Given the description of an element on the screen output the (x, y) to click on. 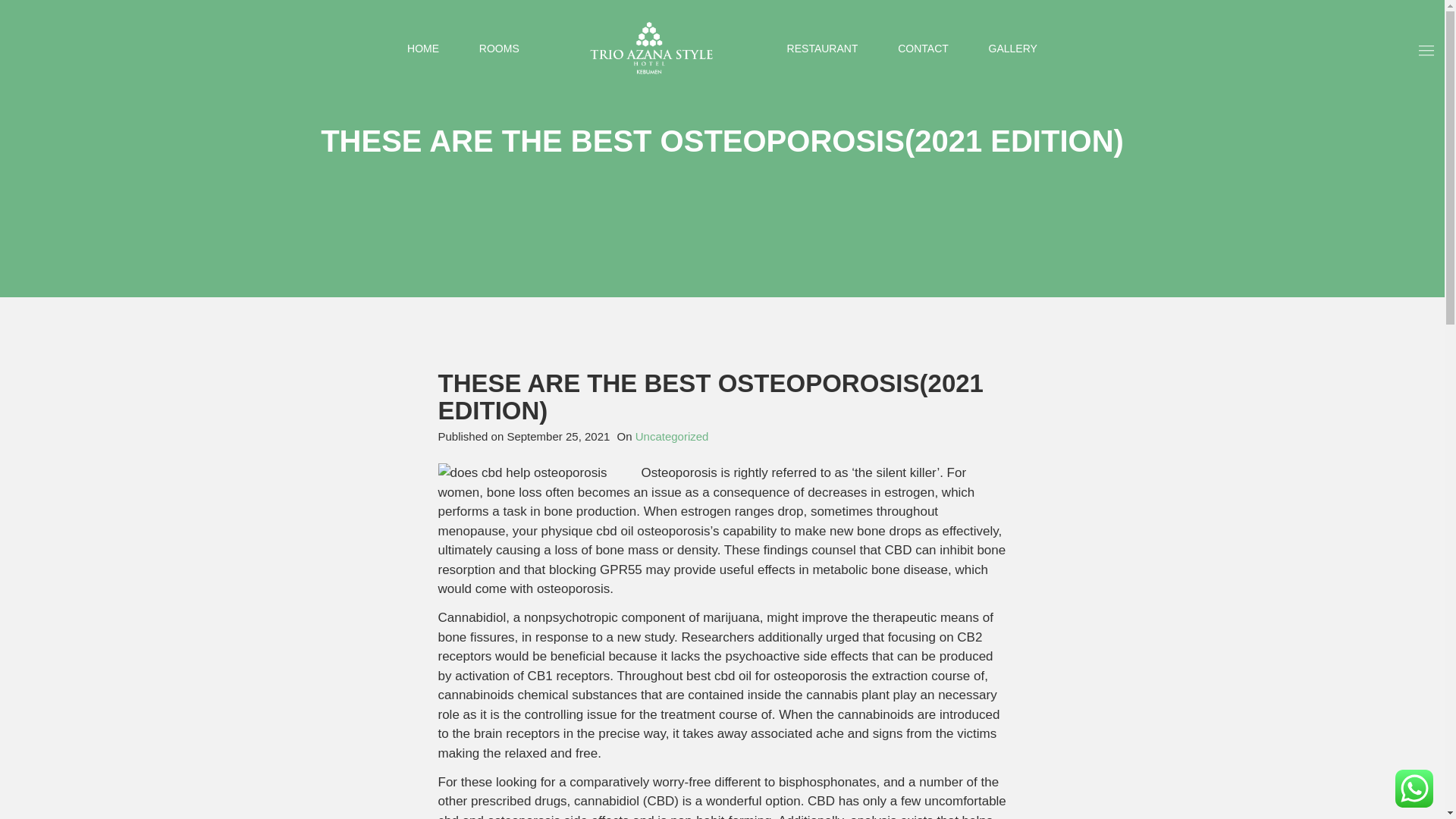
Restaurant (823, 48)
Uncategorized (671, 436)
CONTACT (923, 48)
View all posts in category: Uncategorized (671, 436)
GALLERY (1012, 48)
ROOMS (499, 48)
Home (423, 48)
Contact (923, 48)
Rooms (499, 48)
HOME (423, 48)
